Given the description of an element on the screen output the (x, y) to click on. 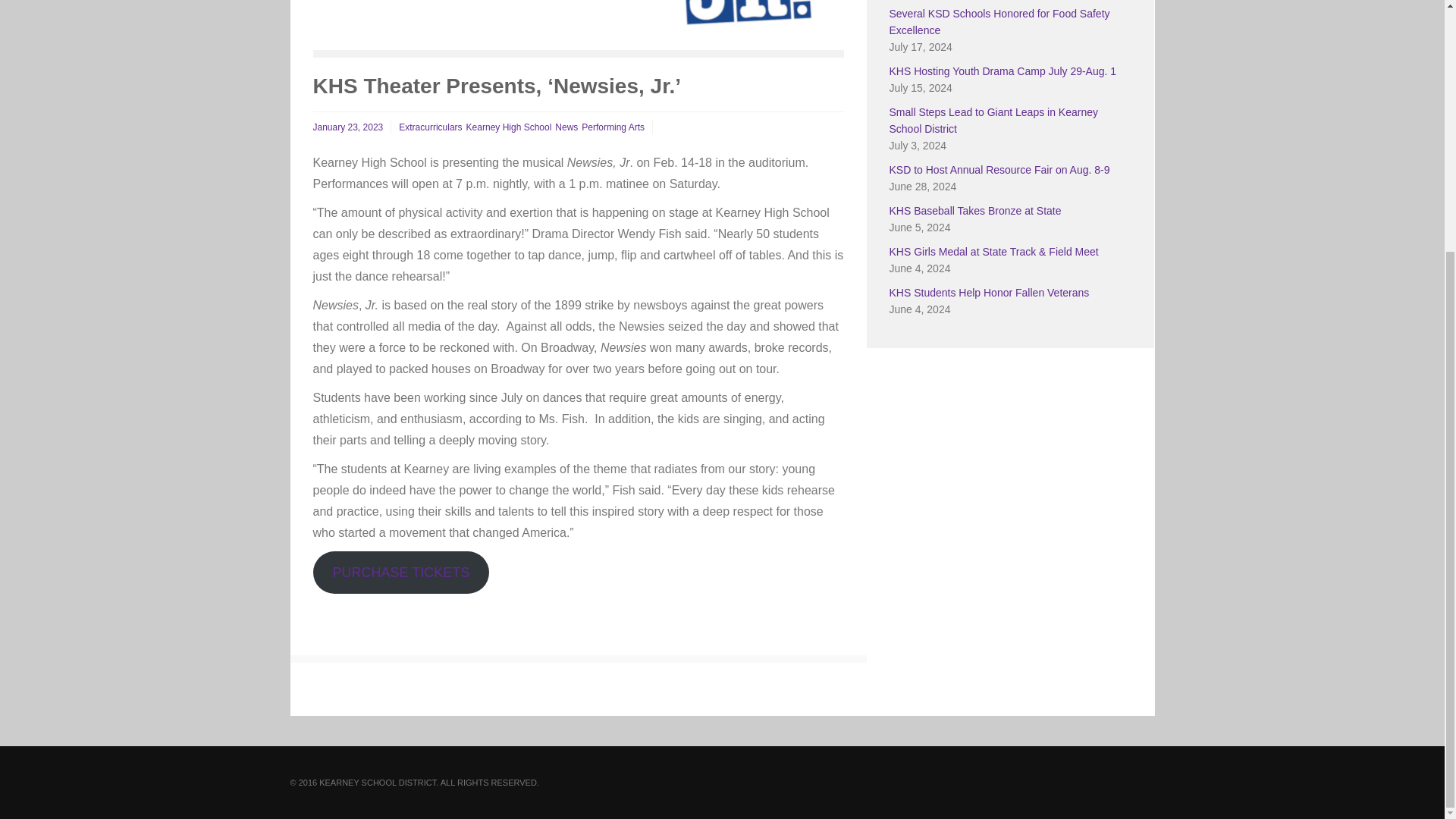
Extracurriculars (429, 127)
Performing Arts (612, 127)
KHS Students Help Honor Fallen Veterans (988, 292)
View all posts in Performing Arts (612, 127)
View all posts in Kearney High School (508, 127)
Several KSD Schools Honored for Food Safety Excellence (998, 21)
View all posts in News (566, 127)
KHS Hosting Youth Drama Camp July 29-Aug. 1 (1002, 70)
KHS Baseball Takes Bronze at State (974, 210)
News (566, 127)
